Given the description of an element on the screen output the (x, y) to click on. 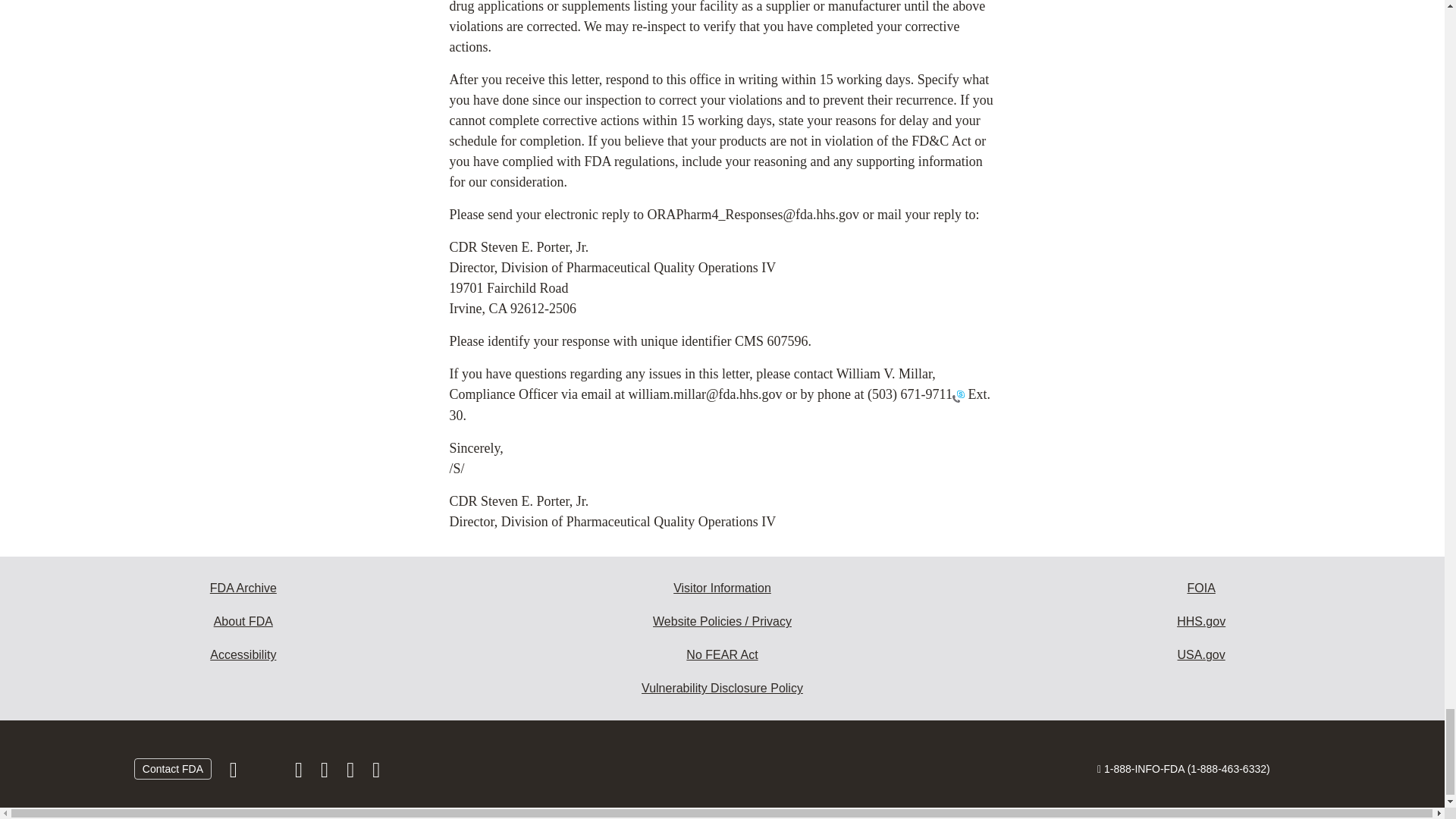
Subscribe to FDA RSS feeds (376, 773)
Follow FDA on LinkedIn (326, 773)
Follow FDA on X (266, 773)
Follow FDA on Facebook (234, 773)
Freedom of Information Act (1200, 588)
Health and Human Services (1200, 621)
View FDA videos on YouTube (352, 773)
Follow FDA on Instagram (299, 773)
